Given the description of an element on the screen output the (x, y) to click on. 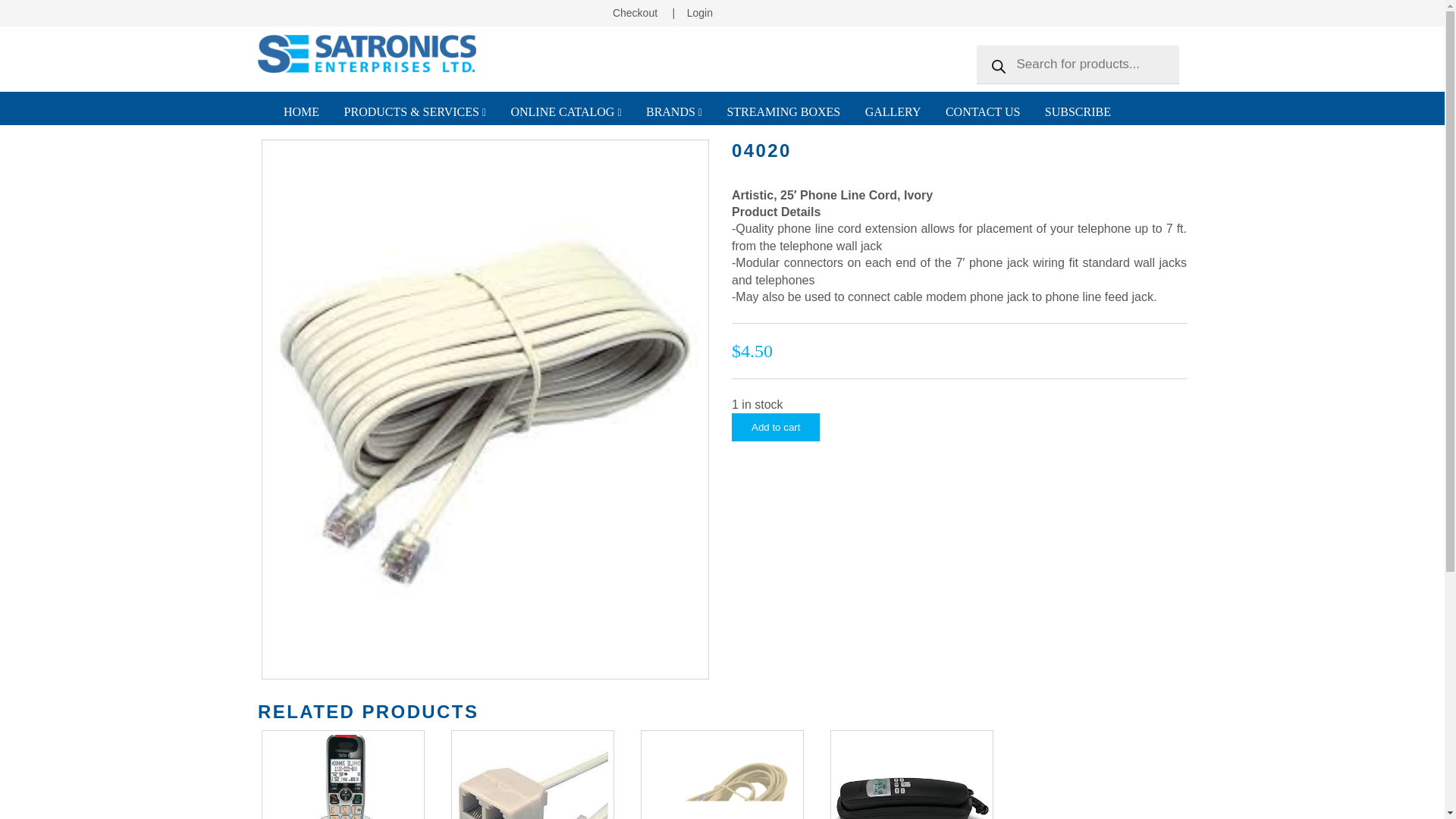
ONLINE CATALOG (565, 111)
Login (700, 12)
BRANDS (673, 111)
HOME (301, 111)
Checkout (635, 12)
